Given the description of an element on the screen output the (x, y) to click on. 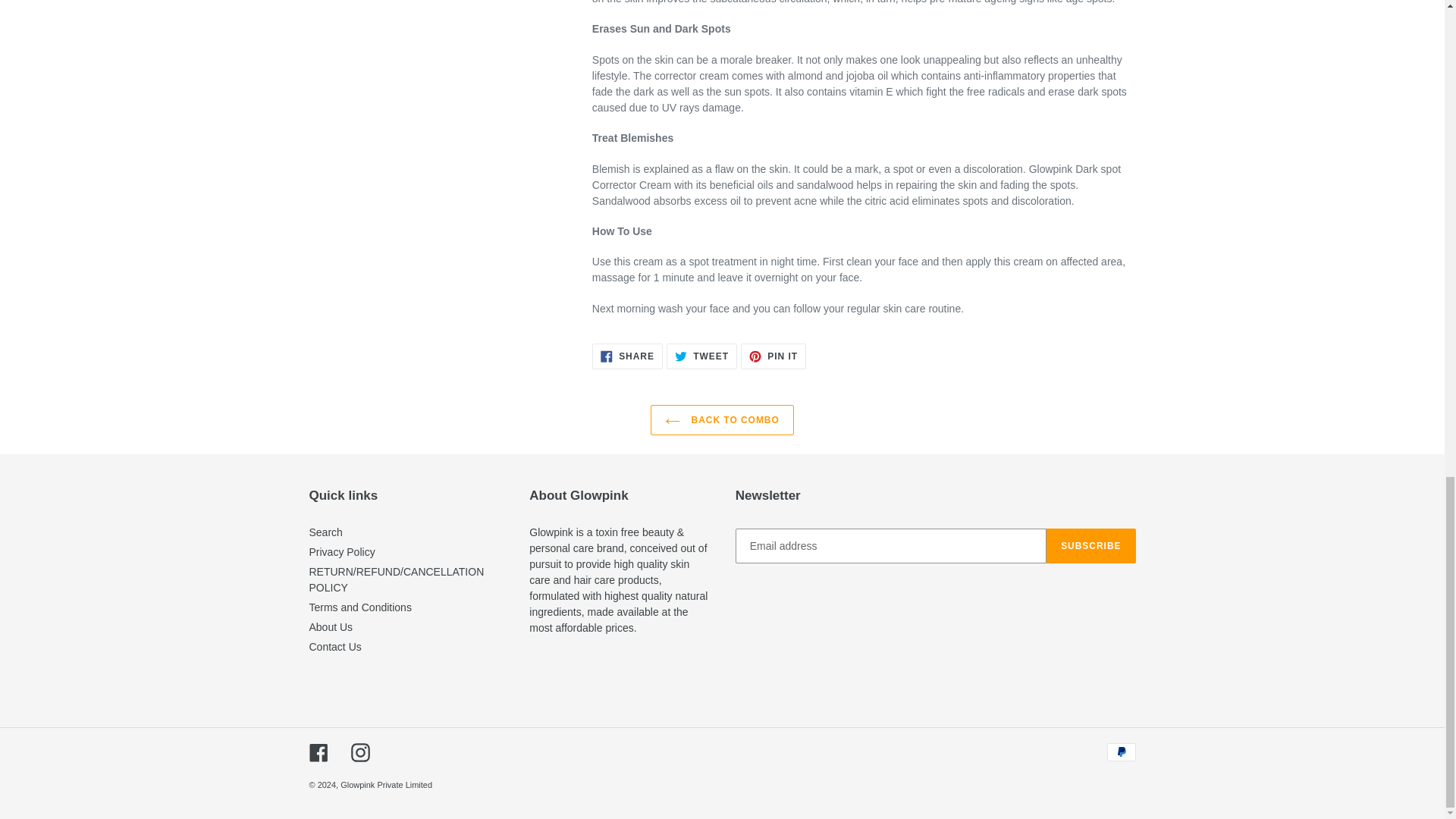
Terms and Conditions (360, 607)
Search (627, 356)
BACK TO COMBO (325, 532)
Privacy Policy (721, 419)
About Us (341, 551)
SUBSCRIBE (330, 626)
Contact Us (1090, 545)
